Given the description of an element on the screen output the (x, y) to click on. 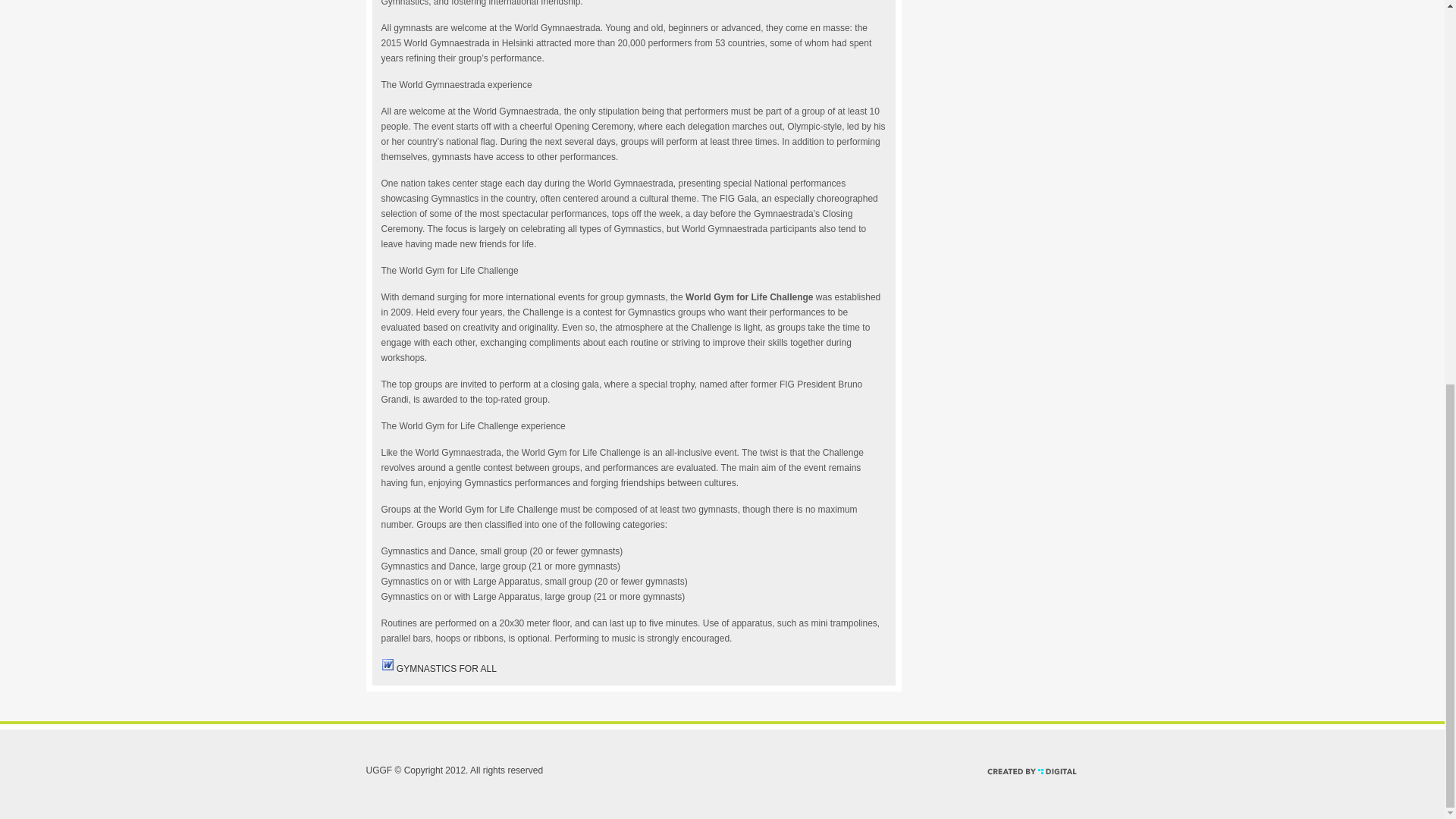
GYMNASTICS FOR ALL (446, 668)
